Given the description of an element on the screen output the (x, y) to click on. 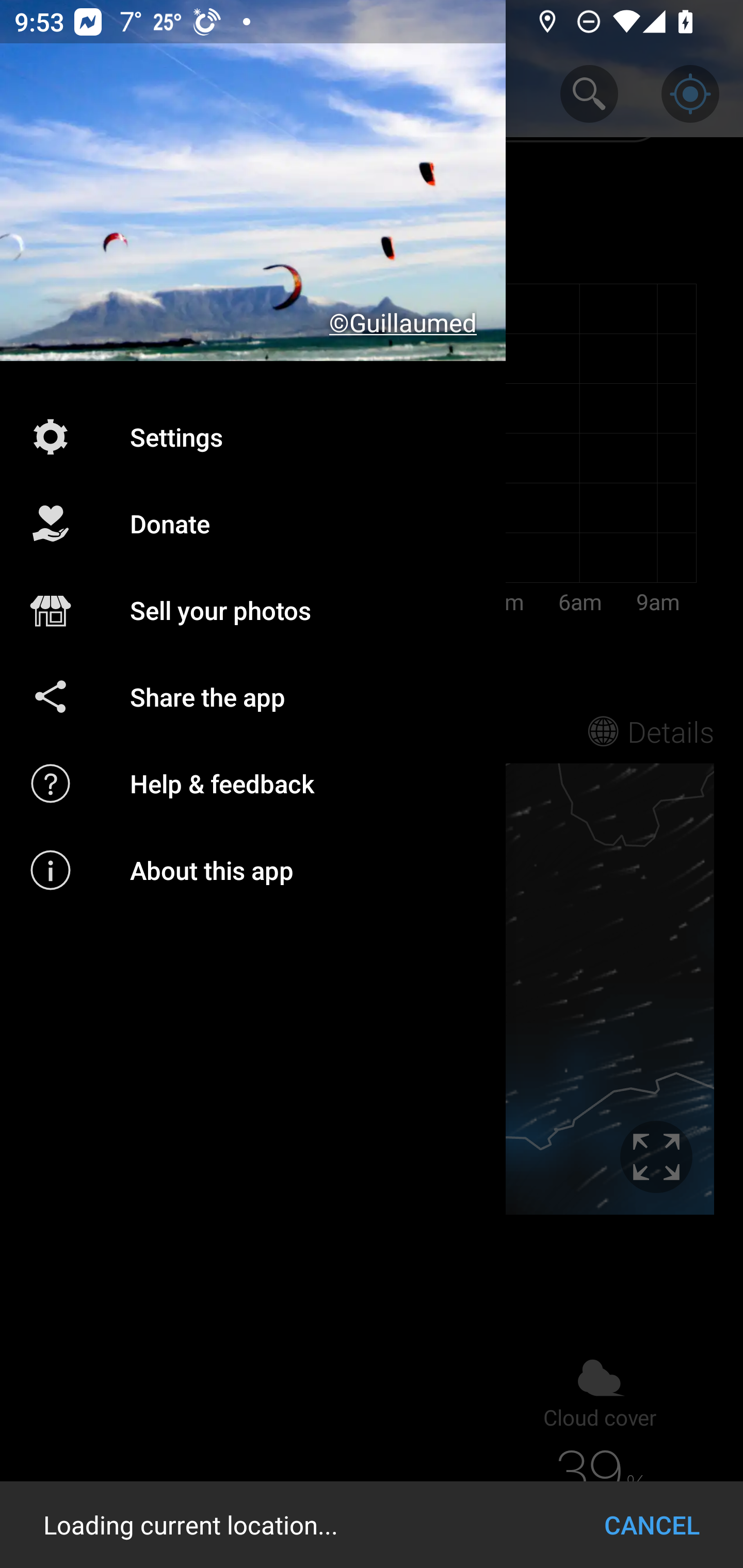
©Guillaumed (252, 180)
Settings (252, 436)
Donate (252, 523)
Sell your photos (252, 610)
Share the app (252, 696)
Help & feedback (252, 783)
About this app (252, 870)
Loading current location... CANCEL (371, 1524)
CANCEL (651, 1524)
